Given the description of an element on the screen output the (x, y) to click on. 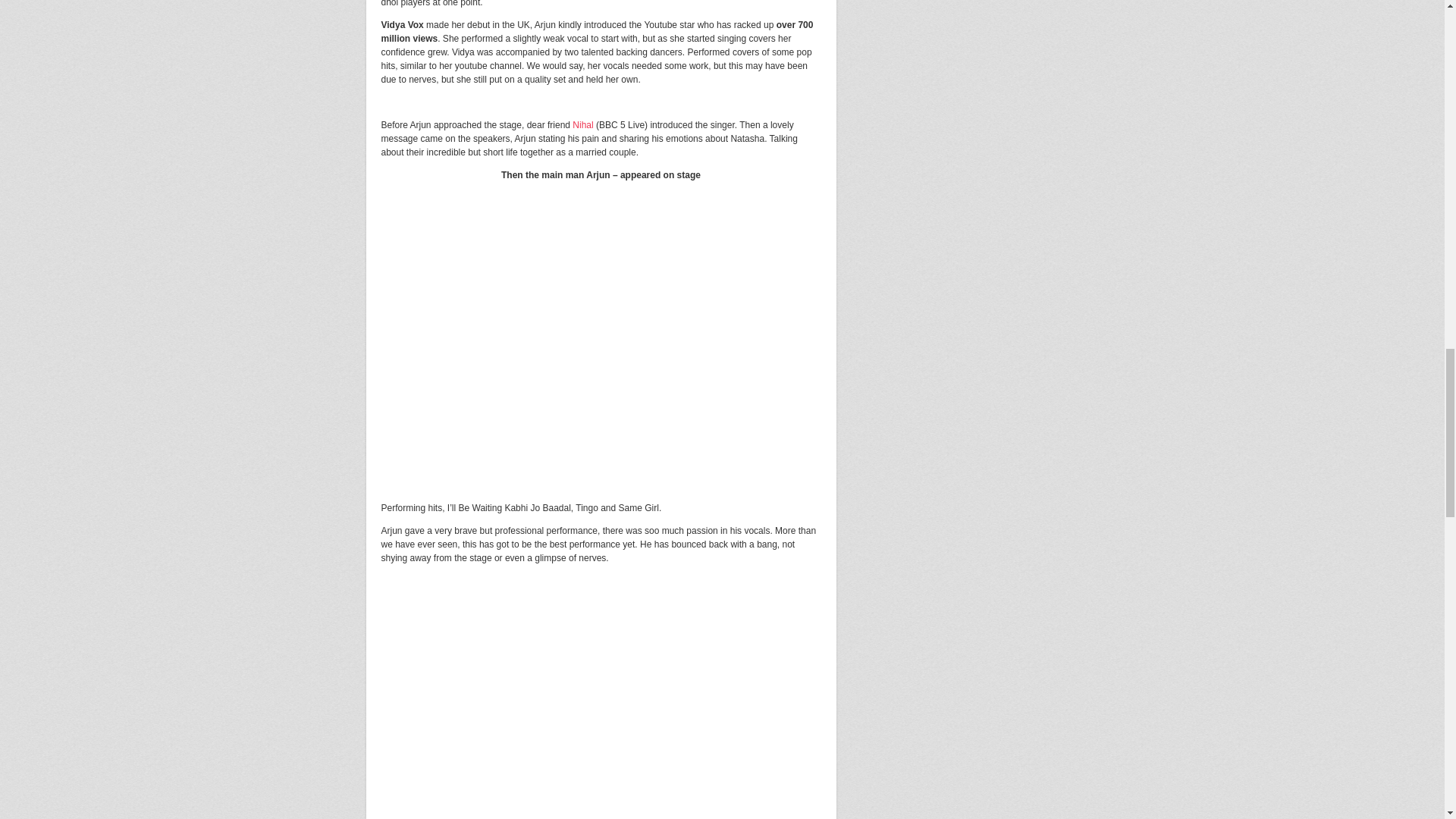
Nihal (582, 124)
ForNatasha (600, 710)
Arjun (600, 341)
